Given the description of an element on the screen output the (x, y) to click on. 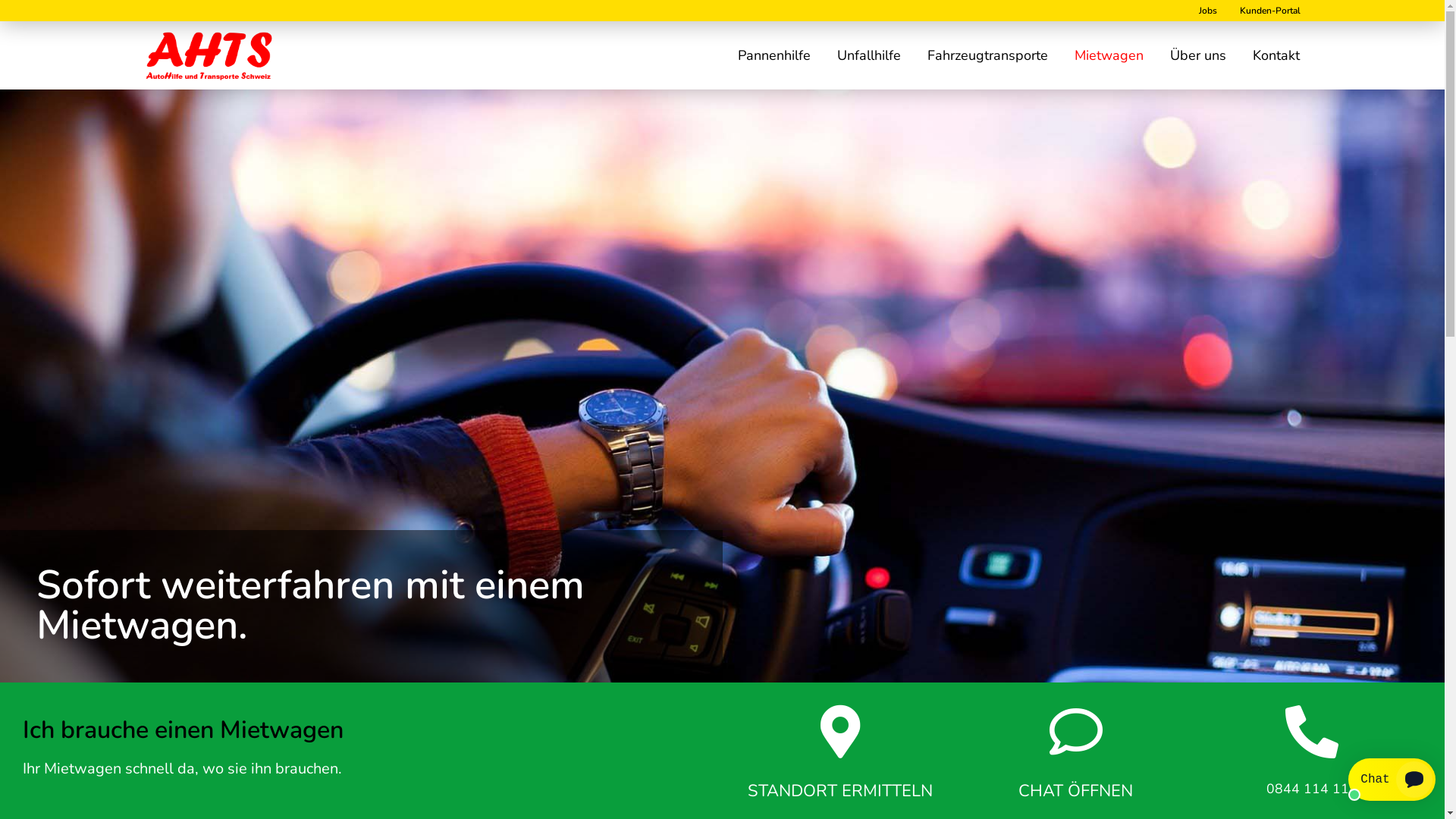
Fahrzeugtransporte Element type: text (987, 54)
Pannenhilfe Element type: text (773, 54)
Jobs Element type: text (1207, 10)
Kunden-Portal Element type: text (1269, 10)
Smartsupp widget button Element type: hover (1391, 779)
Mietwagen Element type: text (1108, 54)
Kontakt Element type: text (1275, 54)
Unfallhilfe Element type: text (868, 54)
0844 114 114 Element type: text (1311, 788)
